Given the description of an element on the screen output the (x, y) to click on. 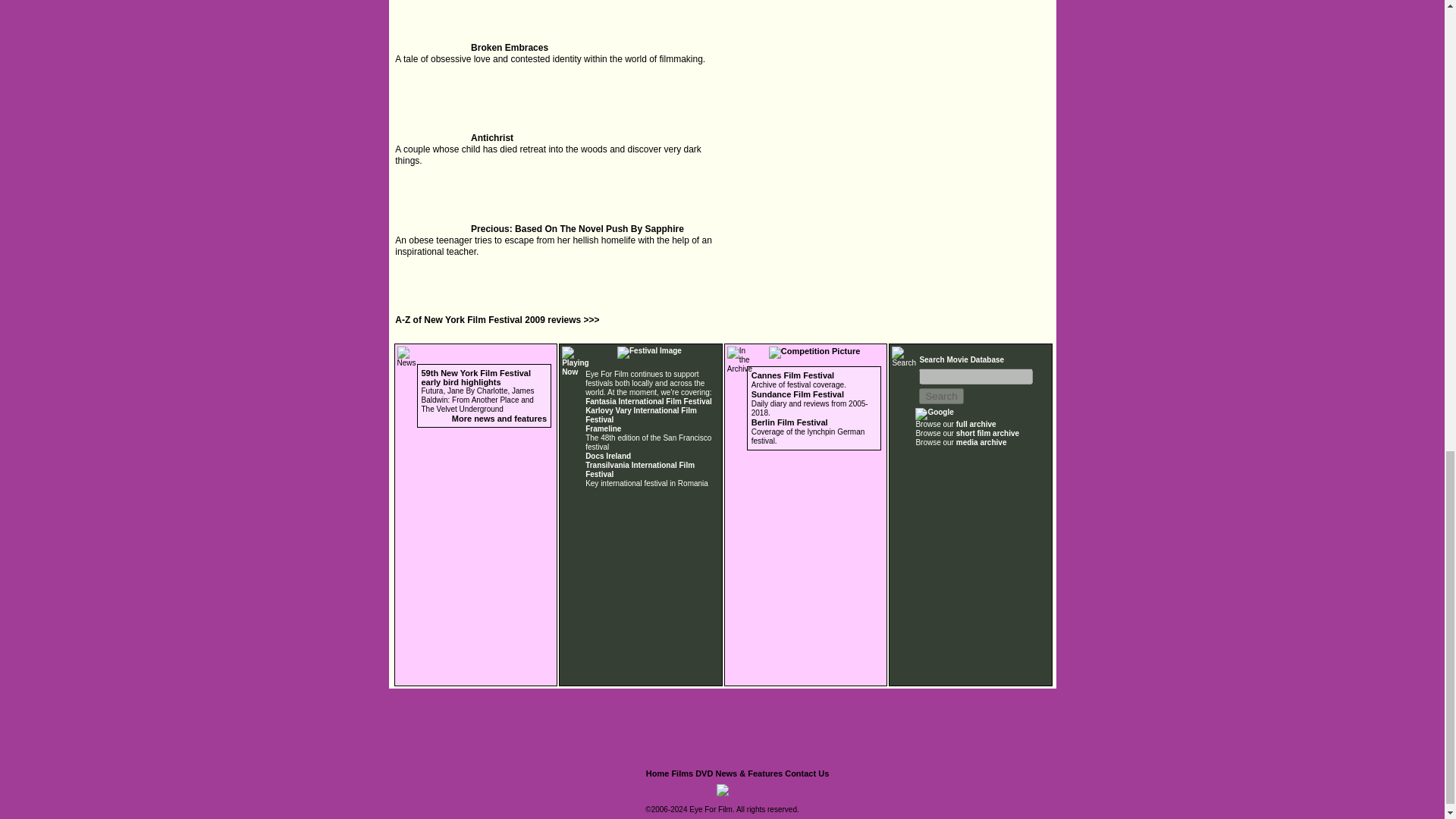
Search (940, 396)
